Given the description of an element on the screen output the (x, y) to click on. 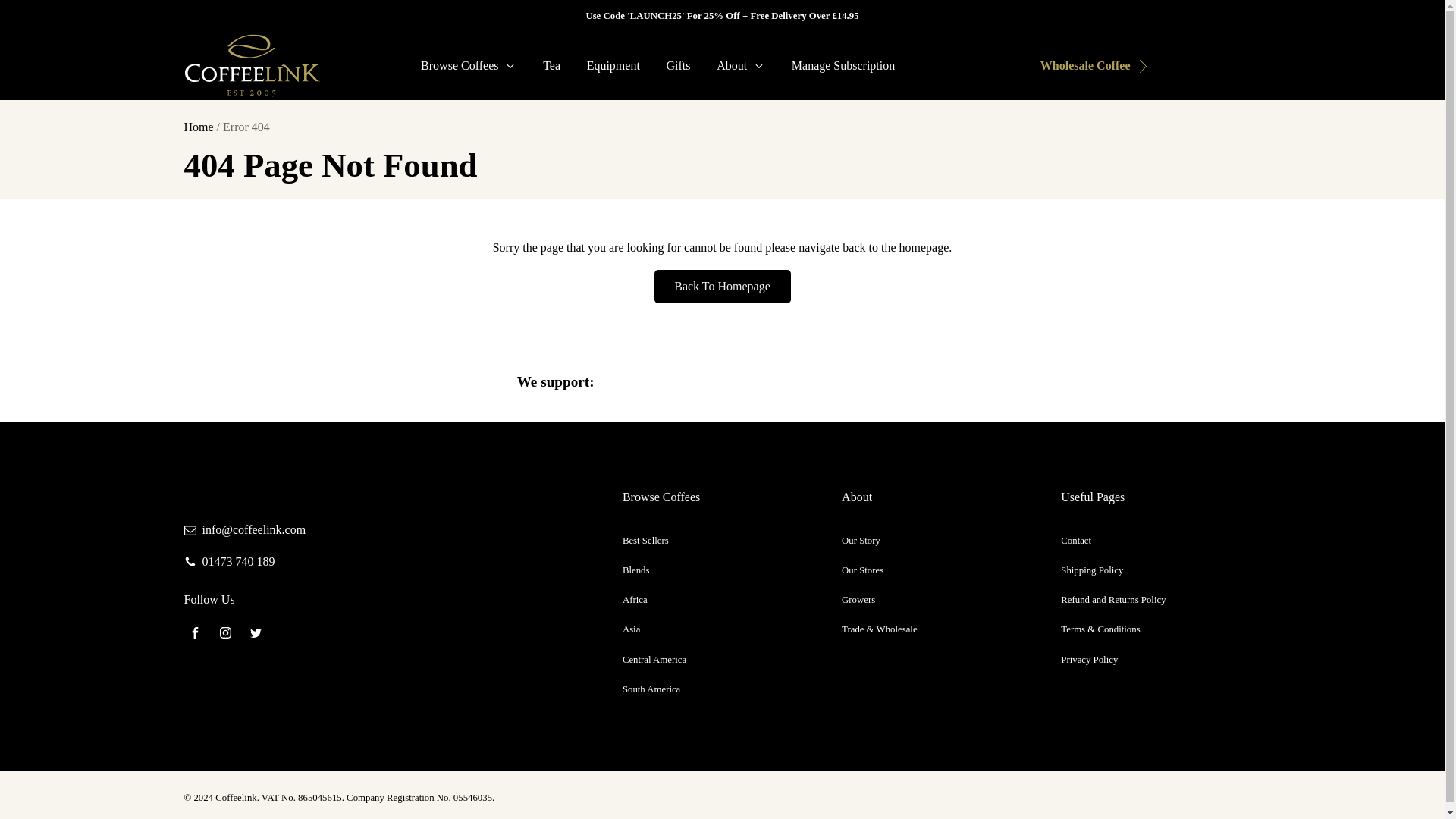
Wholesale Coffee (1082, 65)
Browse Coffees (468, 65)
Manage Subscription (842, 65)
About (740, 65)
Home (197, 126)
Gifts (677, 65)
Tea (551, 65)
Equipment (612, 65)
